Given the description of an element on the screen output the (x, y) to click on. 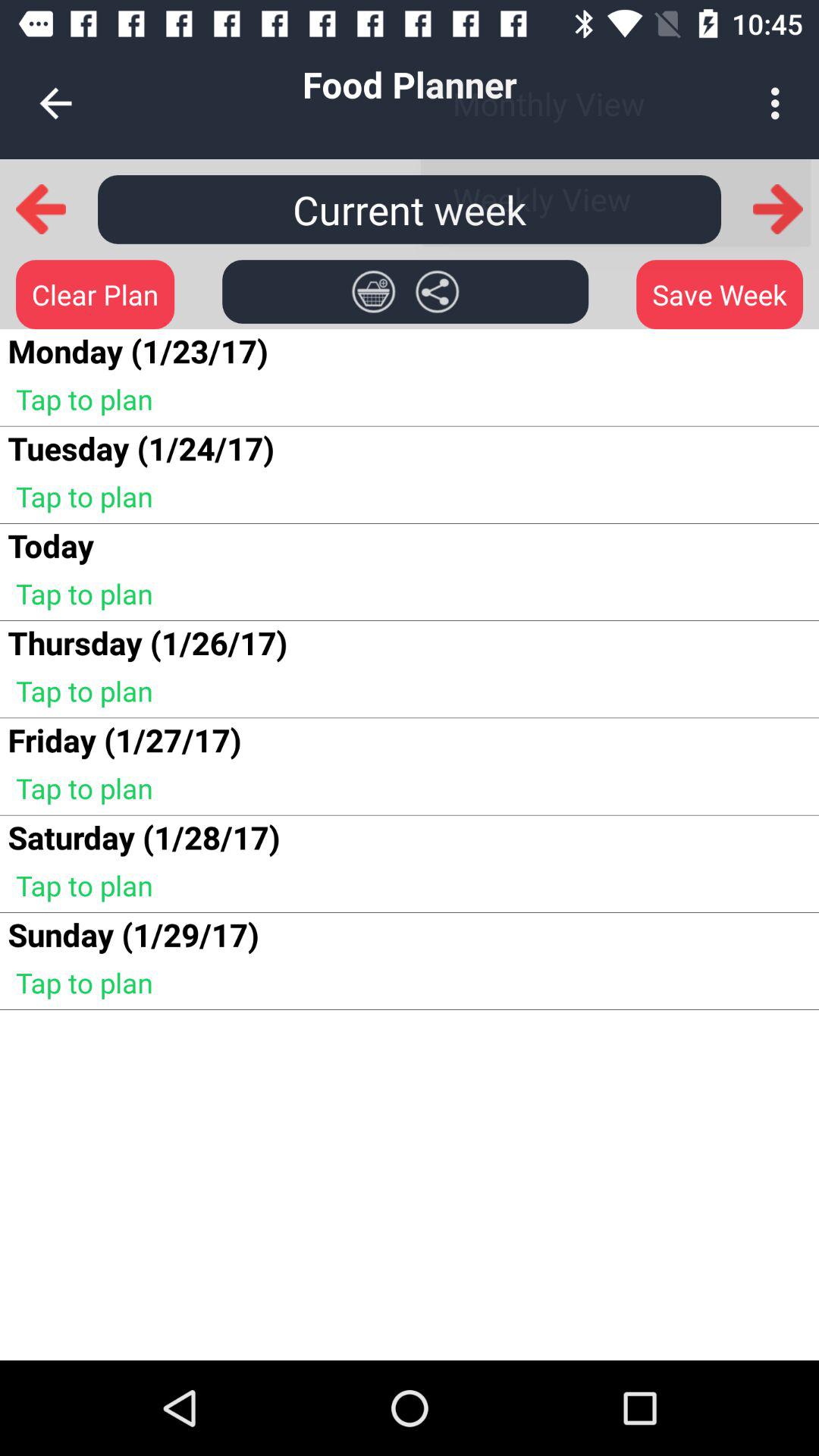
click the item next to food planner (779, 103)
